Given the description of an element on the screen output the (x, y) to click on. 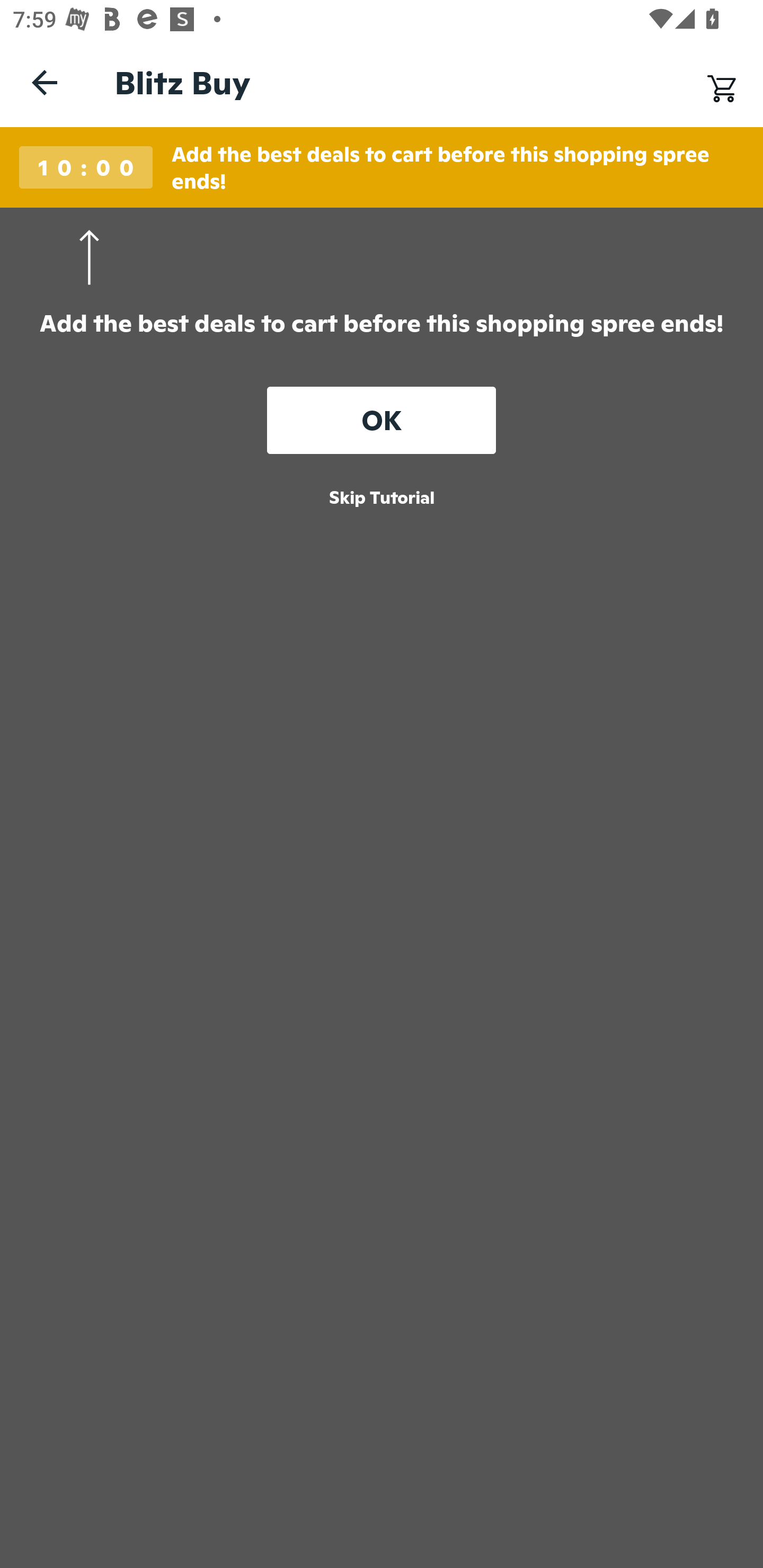
Navigate up (44, 82)
OK (381, 420)
Skip Tutorial (381, 497)
